Given the description of an element on the screen output the (x, y) to click on. 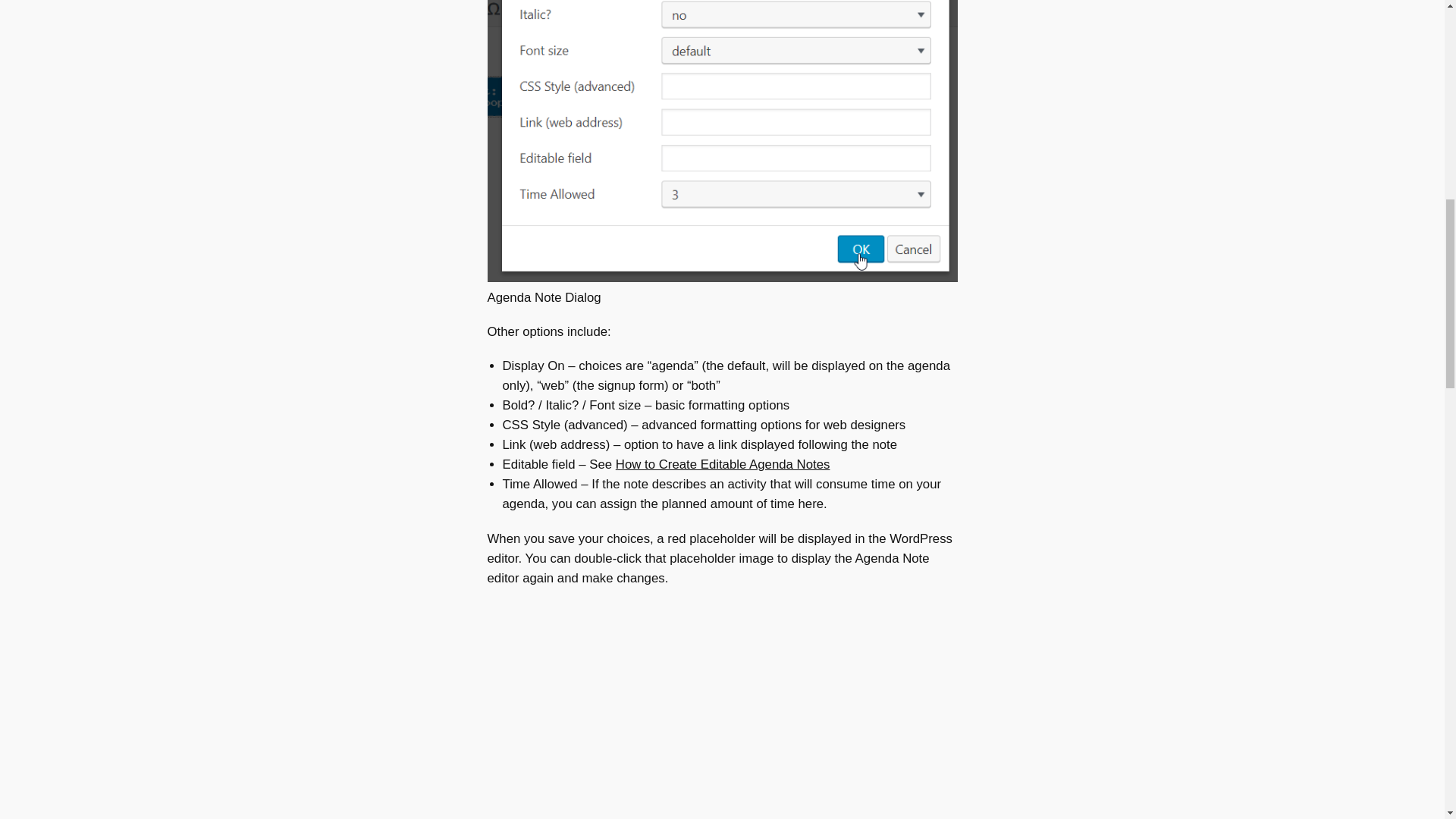
How to Create Editable Agenda Notes (722, 464)
